Given the description of an element on the screen output the (x, y) to click on. 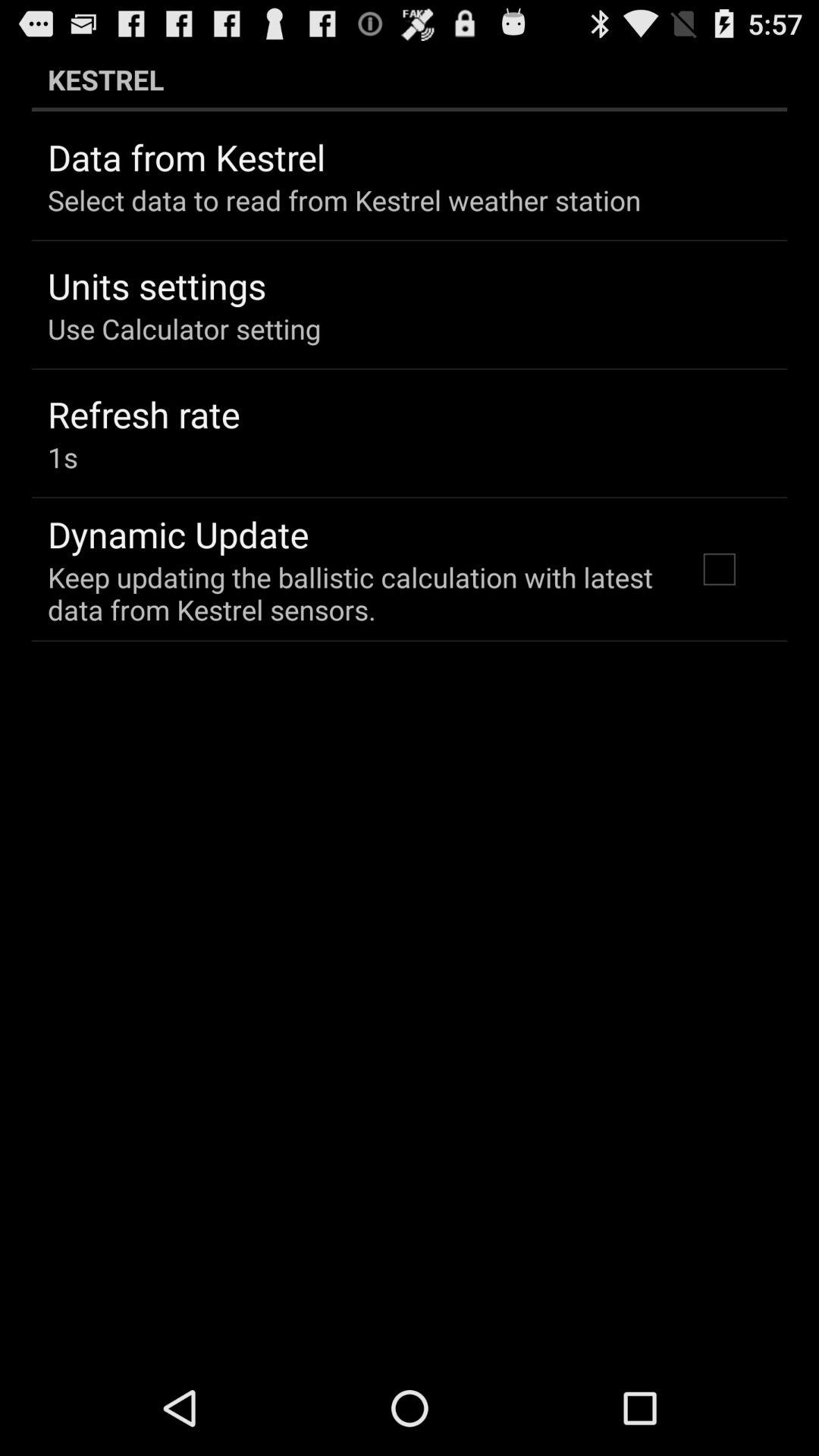
press the app below the units settings icon (183, 328)
